Given the description of an element on the screen output the (x, y) to click on. 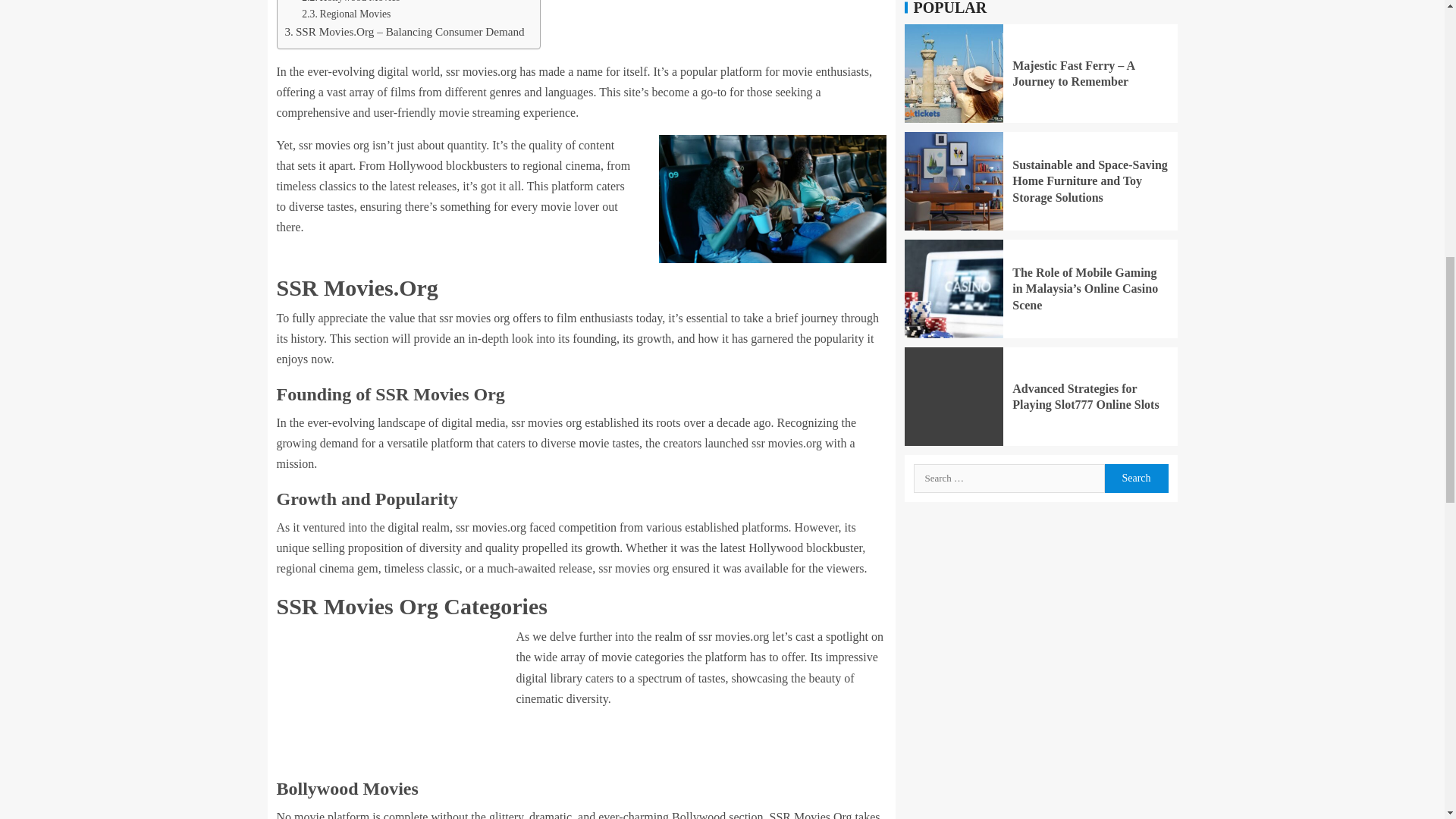
Regional Movies (345, 13)
Regional Movies (345, 13)
Hollywood Movies (349, 2)
Hollywood Movies (349, 2)
